Given the description of an element on the screen output the (x, y) to click on. 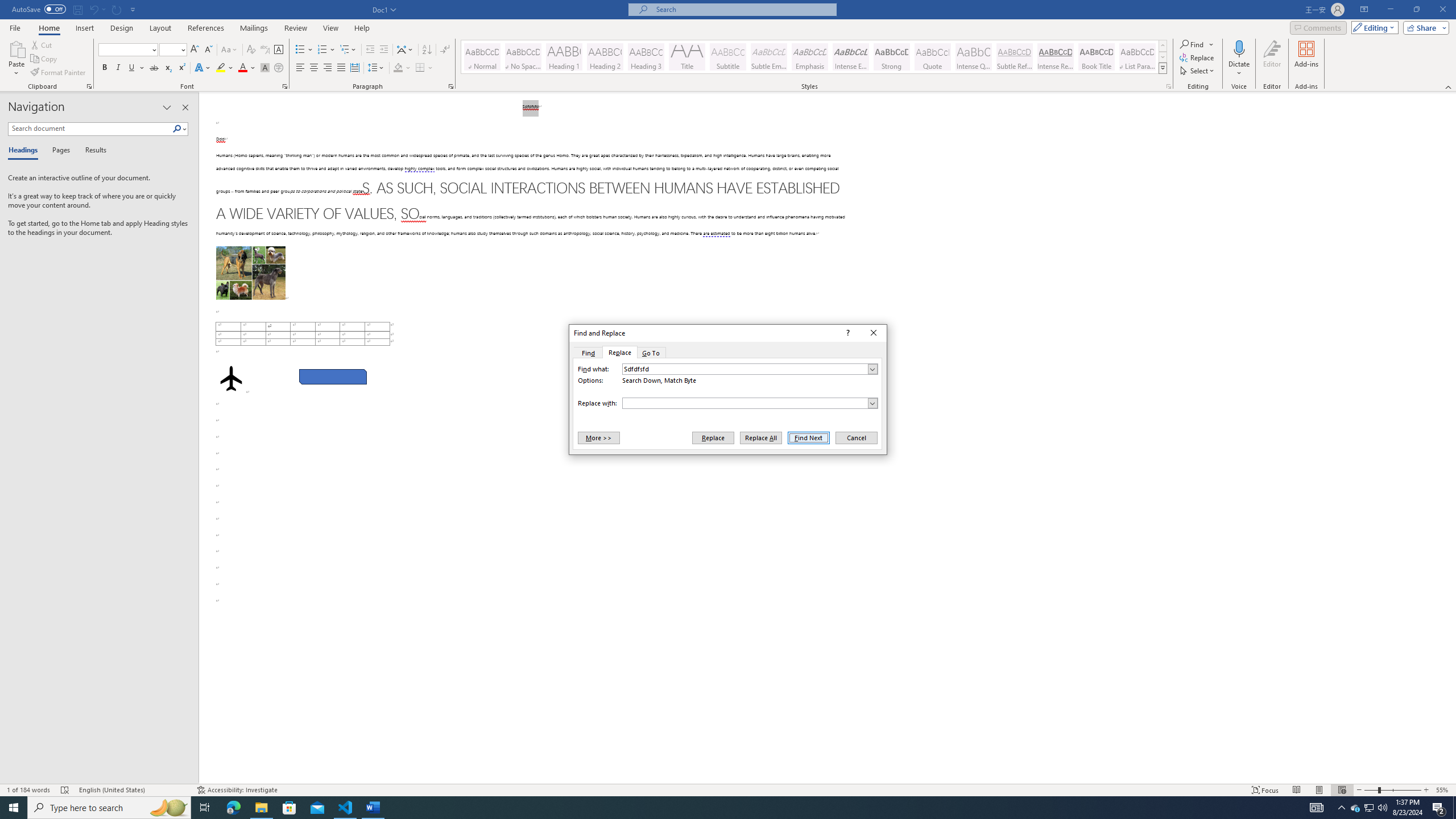
Zoom 55% (1443, 790)
Find Next (808, 437)
Zoom Out (1370, 790)
Shading RGB(0, 0, 0) (397, 67)
File Tab (15, 27)
Morphological variation in six dogs (250, 272)
Review (295, 28)
Emphasis (809, 56)
Search highlights icon opens search home window (167, 807)
Sort... (426, 49)
Visual Studio Code - 1 running window (345, 807)
Mailings (253, 28)
Dictate (1238, 58)
Quick Access Toolbar (74, 9)
Type here to search (108, 807)
